Given the description of an element on the screen output the (x, y) to click on. 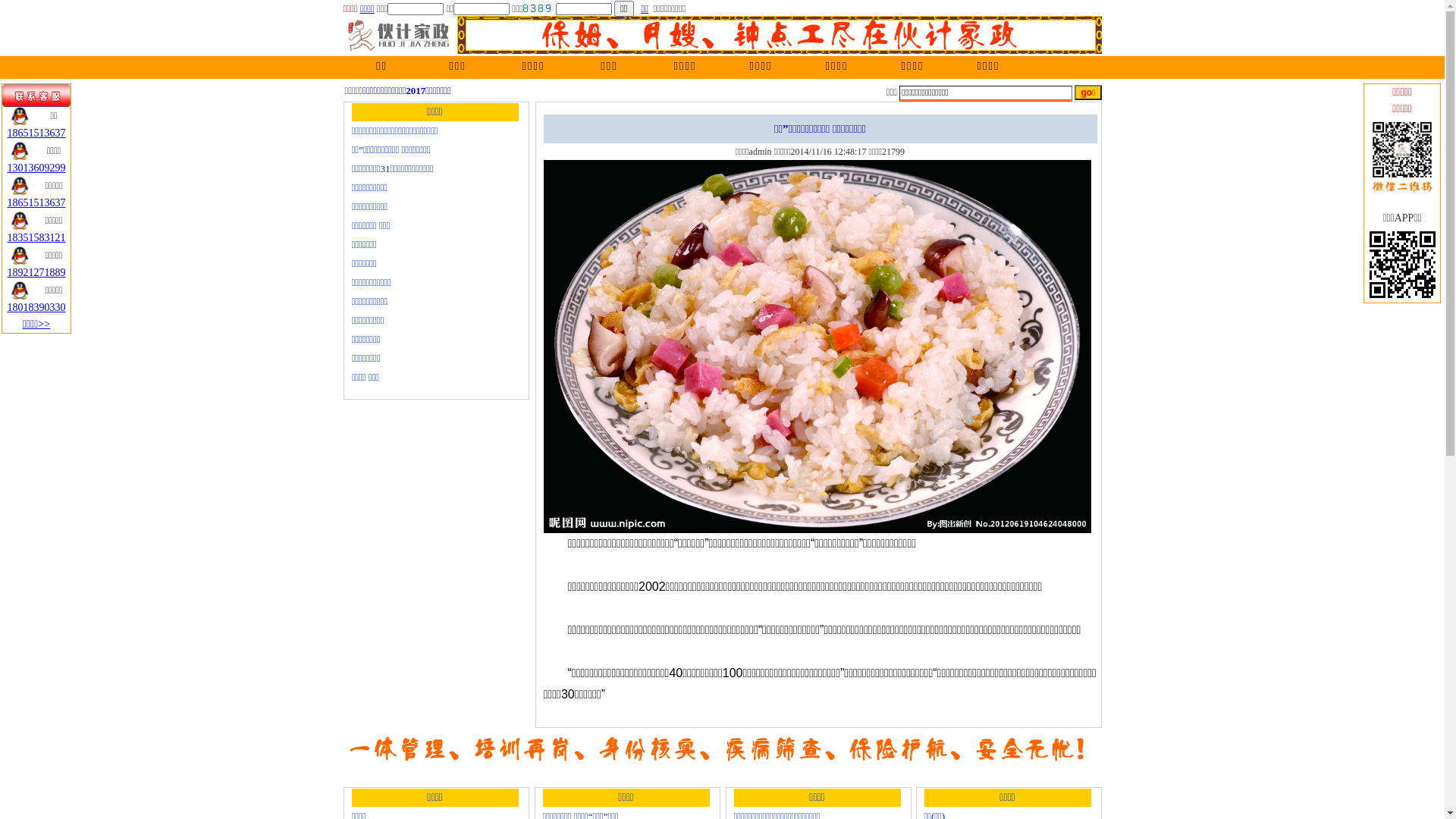
13013609299 Element type: text (36, 167)
18018390330 Element type: text (36, 307)
18651513637 Element type: text (36, 202)
18351583121 Element type: text (36, 237)
18921271889 Element type: text (36, 272)
18651513637 Element type: text (36, 132)
